Given the description of an element on the screen output the (x, y) to click on. 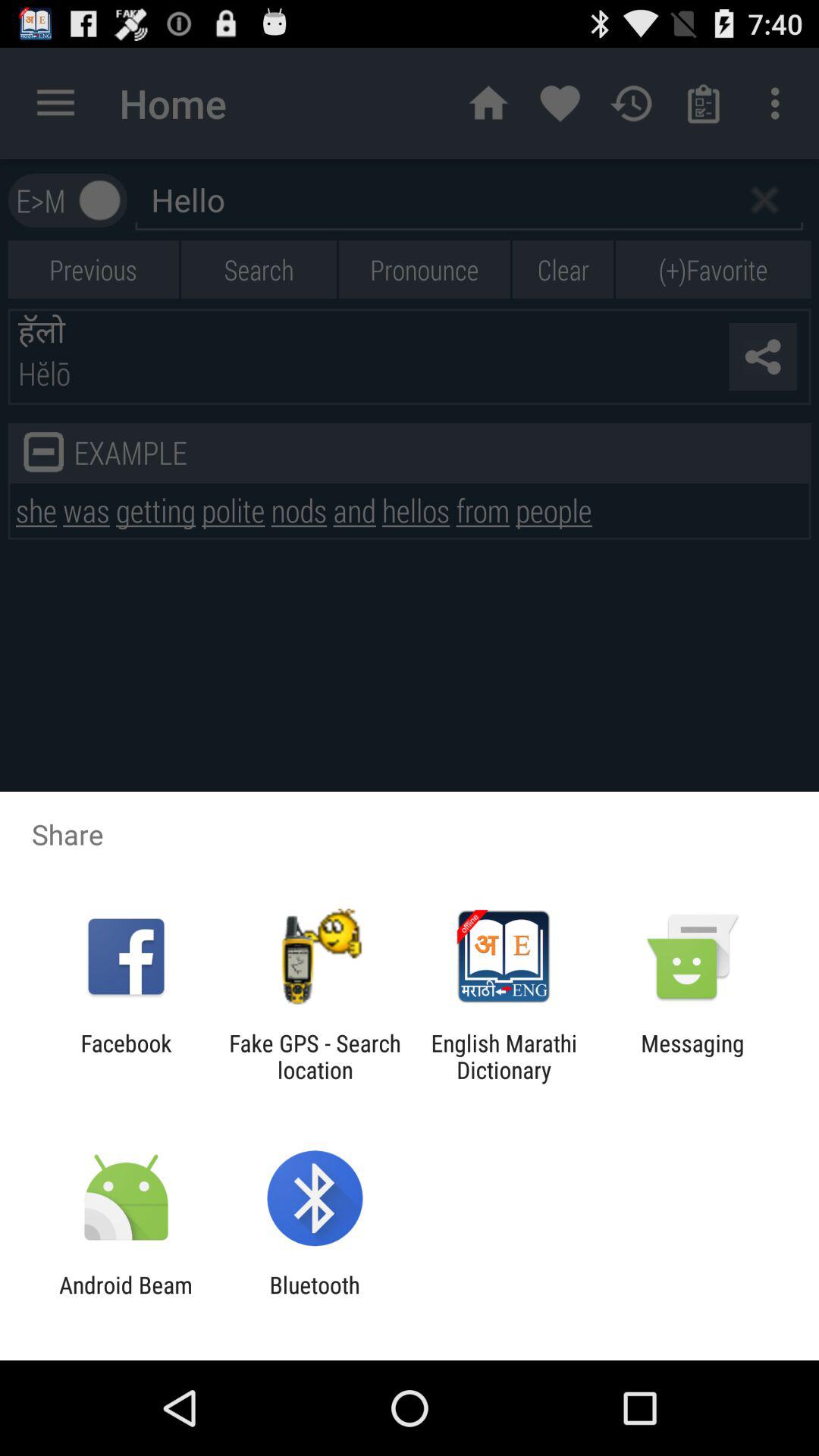
launch the bluetooth icon (314, 1298)
